Given the description of an element on the screen output the (x, y) to click on. 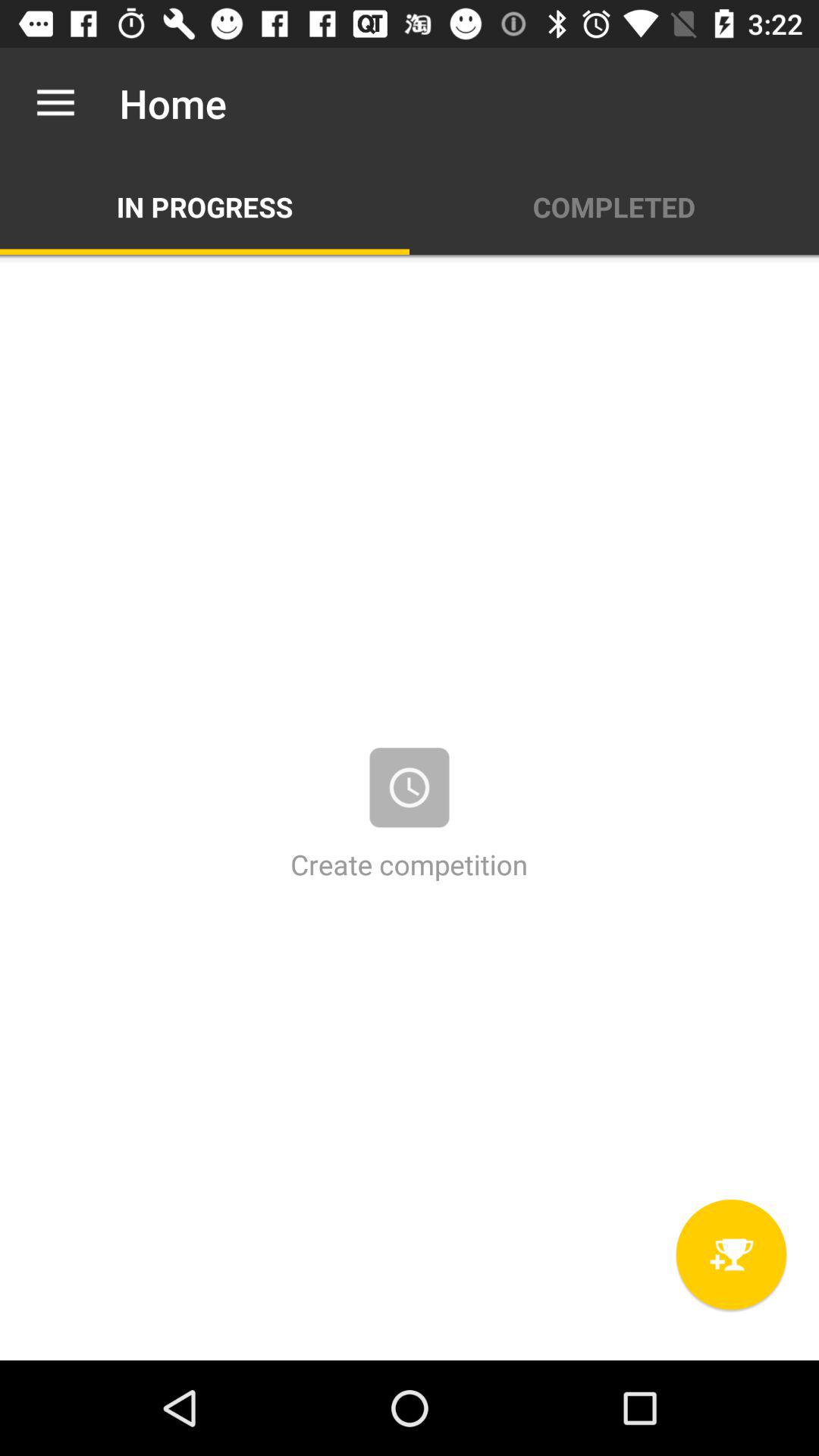
turn on the icon above in progress (55, 103)
